Given the description of an element on the screen output the (x, y) to click on. 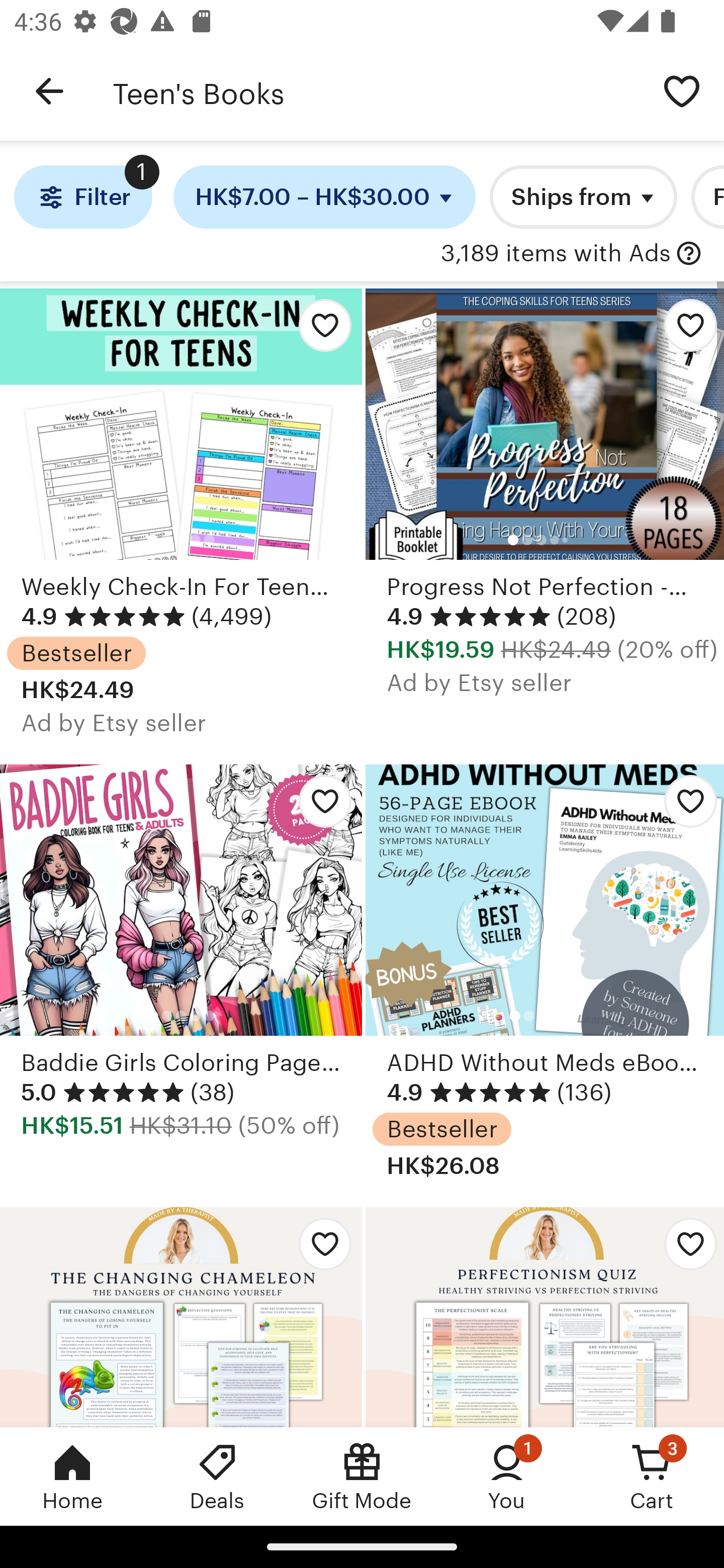
Navigate up (49, 91)
Save search (681, 90)
Teen's Books (375, 91)
Filter (82, 197)
HK$7.00 – HK$30.00 (324, 197)
Ships from (582, 197)
3,189 items with Ads (555, 253)
with Ads (688, 253)
Deals (216, 1475)
Gift Mode (361, 1475)
You, 1 new notification You (506, 1475)
Cart, 3 new notifications Cart (651, 1475)
